Given the description of an element on the screen output the (x, y) to click on. 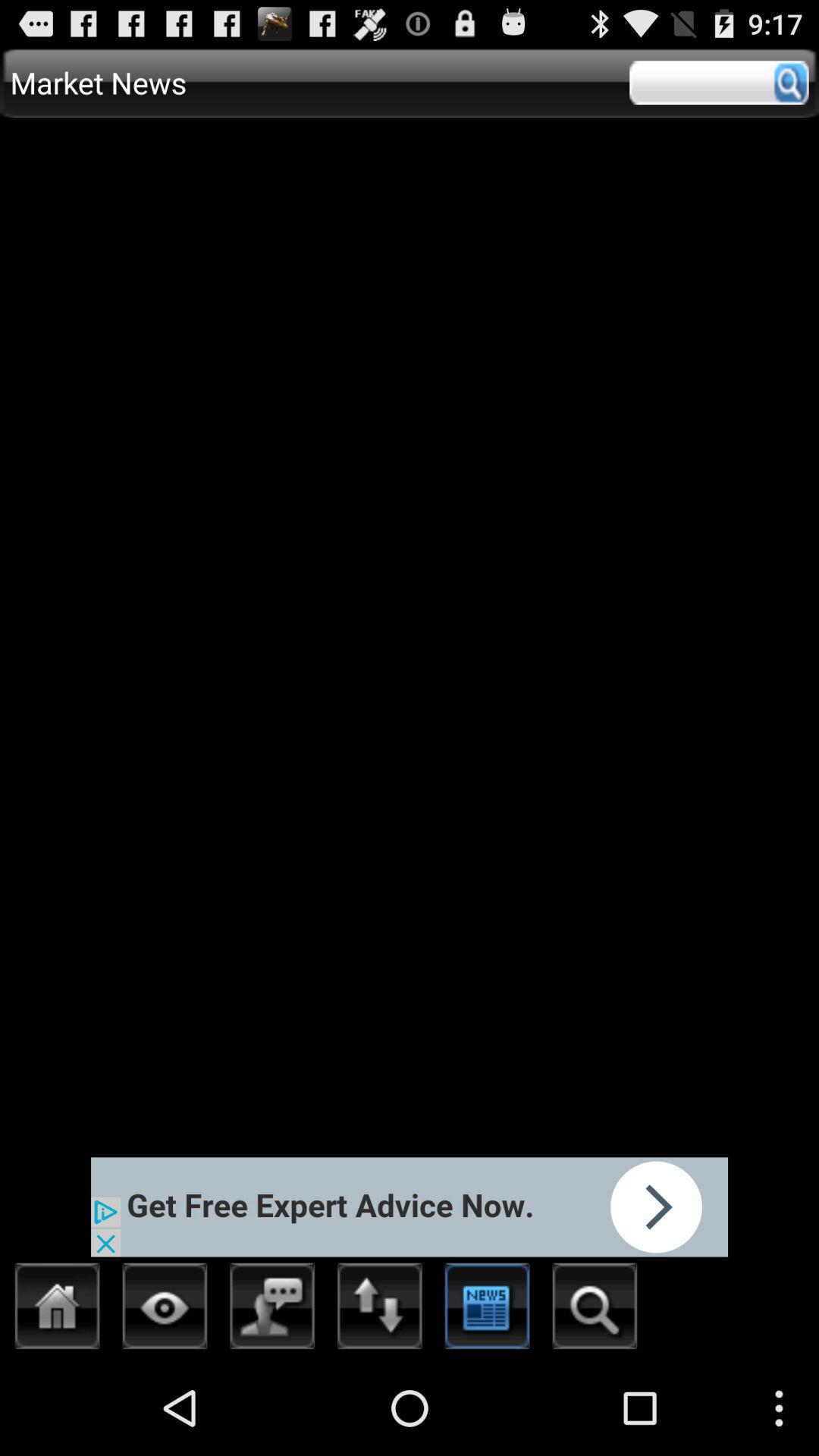
search (594, 1310)
